Given the description of an element on the screen output the (x, y) to click on. 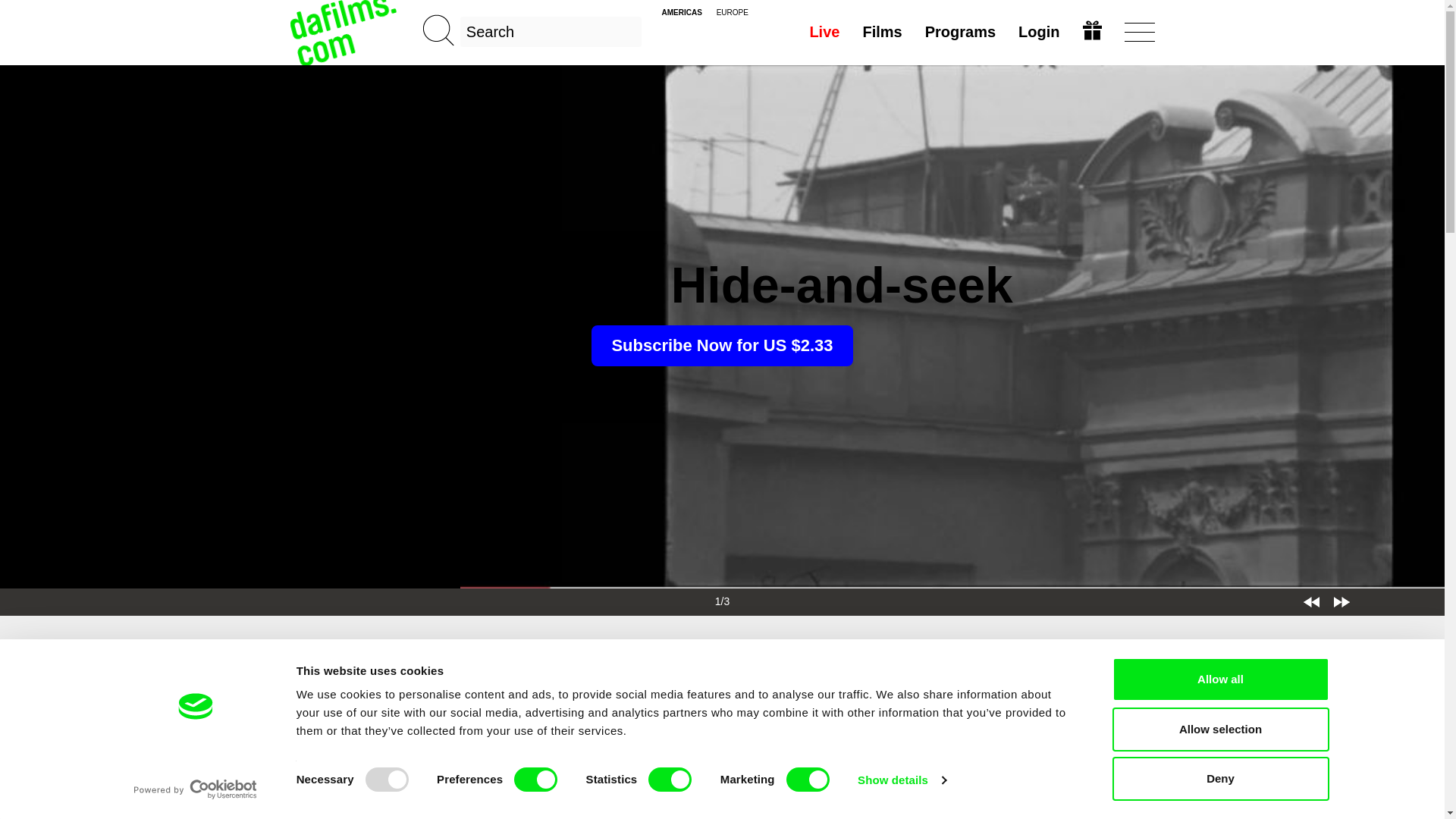
Home (343, 32)
Show details (900, 780)
